Given the description of an element on the screen output the (x, y) to click on. 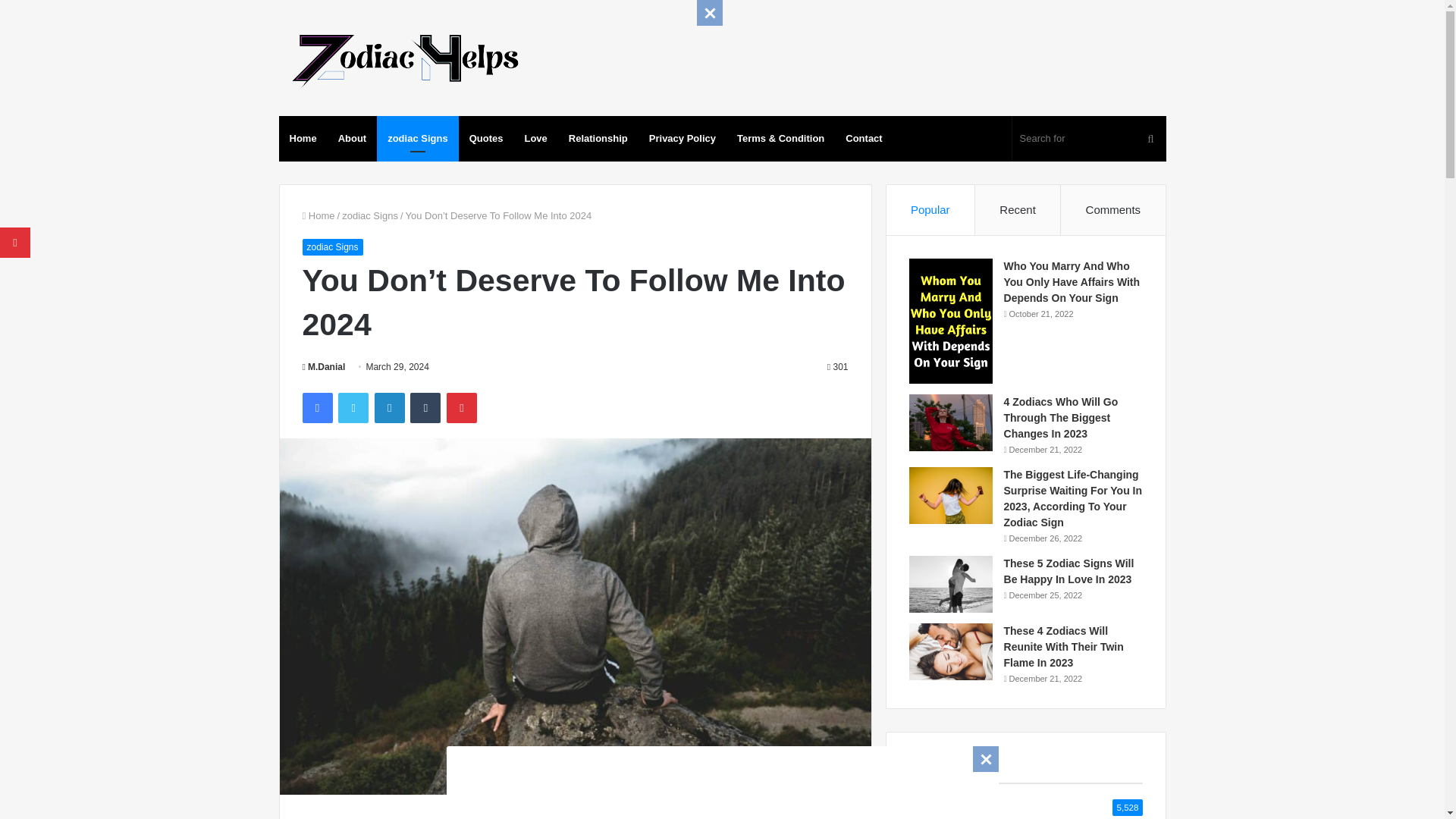
Tumblr (425, 408)
Love (535, 138)
Facebook (316, 408)
Contact (863, 138)
Relationship (598, 138)
Pinterest (461, 408)
M.Danial (323, 366)
zodiac Signs (331, 247)
Facebook (316, 408)
Twitter (352, 408)
Quotes (485, 138)
About (352, 138)
ZodiacHelps (403, 57)
zodiac Signs (369, 215)
zodiac Signs (417, 138)
